Given the description of an element on the screen output the (x, y) to click on. 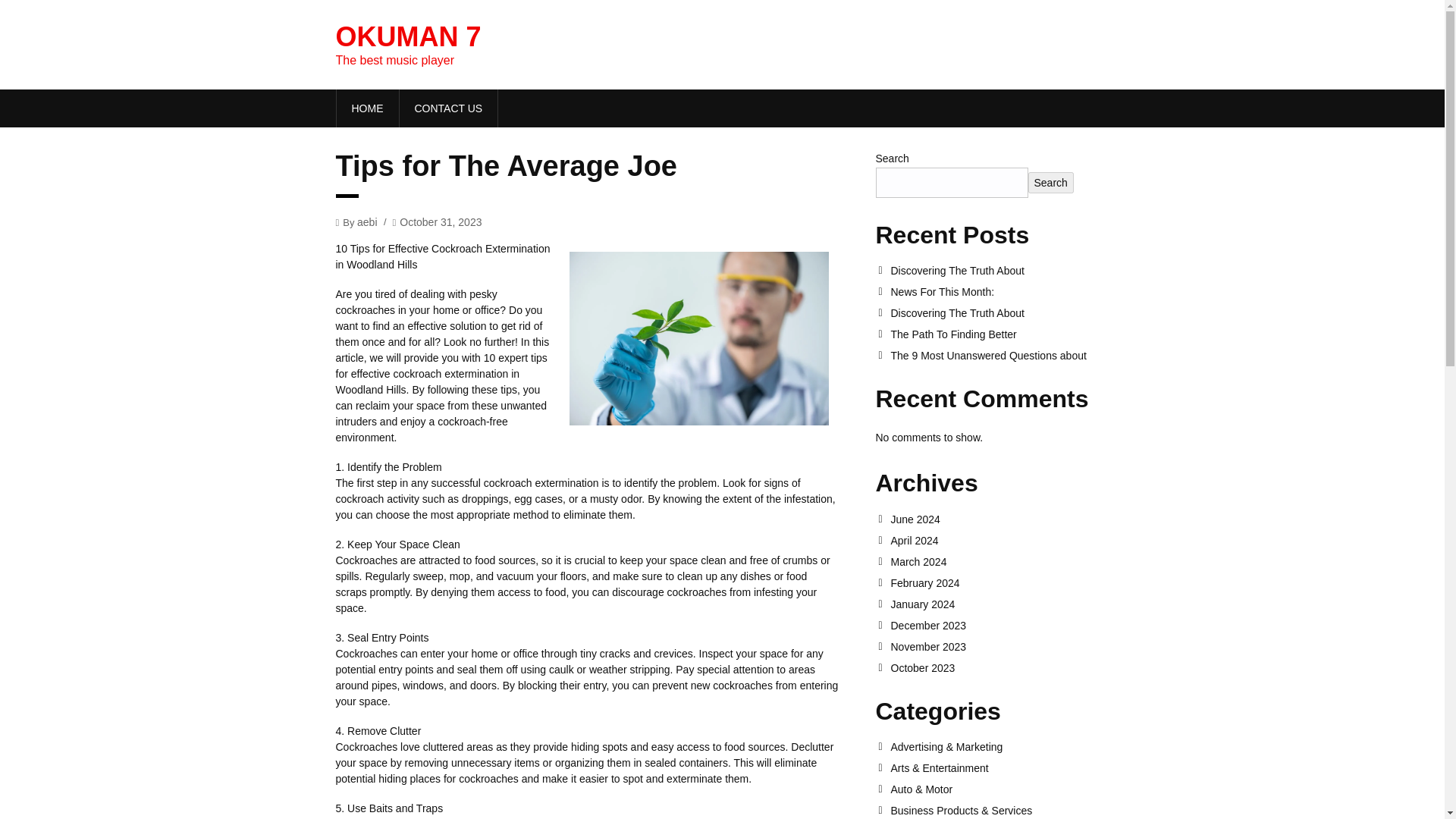
The Path To Finding Better (998, 334)
April 2024 (998, 540)
January 2024 (998, 604)
News For This Month: (998, 291)
February 2024 (998, 582)
Discovering The Truth About (998, 313)
OKUMAN 7 (407, 36)
December 2023 (998, 625)
The 9 Most Unanswered Questions about (998, 355)
CONTACT US (447, 108)
Discovering The Truth About (998, 270)
November 2023 (998, 646)
aebi (366, 221)
Search (1050, 182)
The best music player (407, 36)
